Given the description of an element on the screen output the (x, y) to click on. 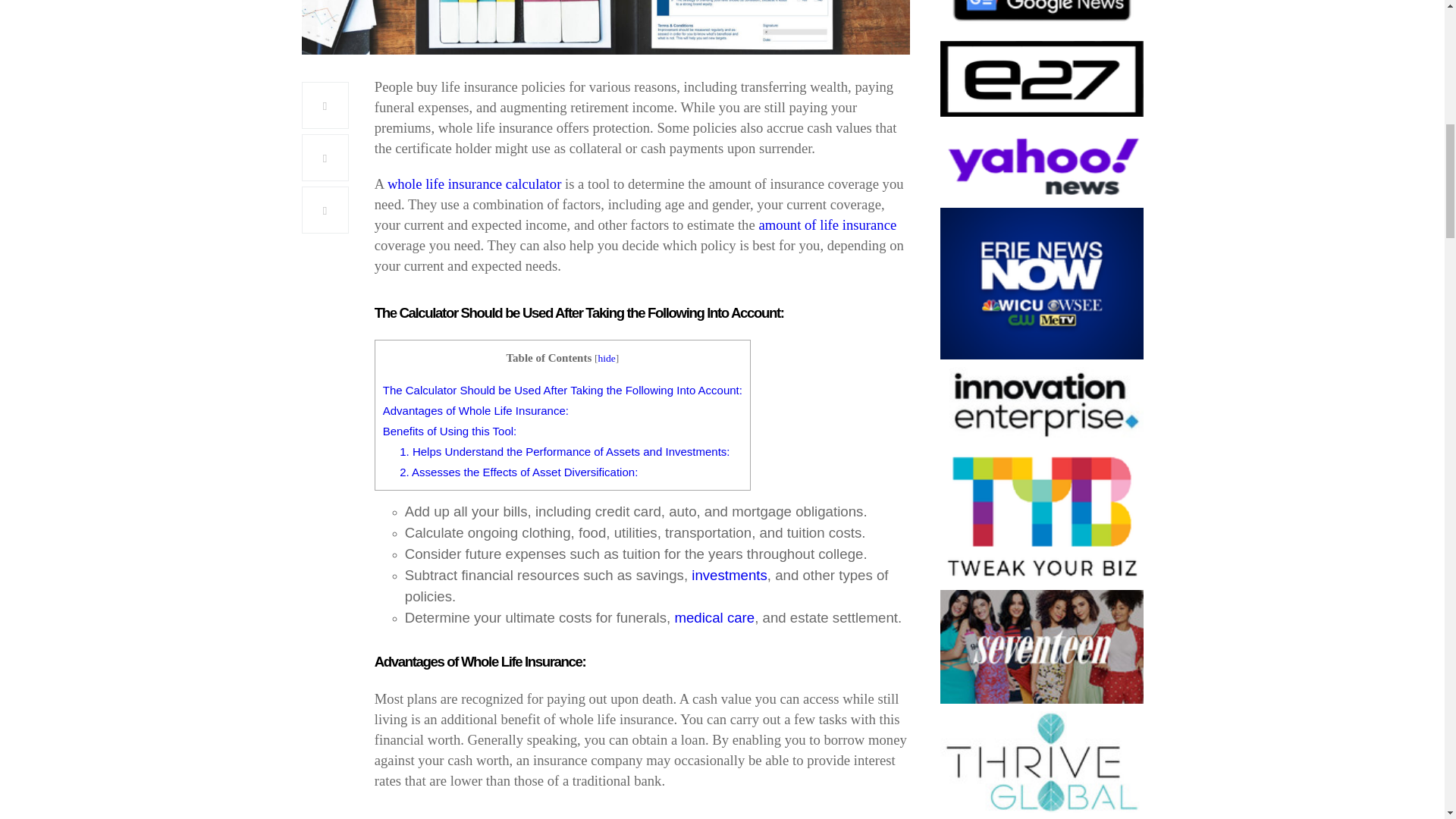
YouTube video player (639, 812)
Share on Pinterest (325, 209)
Share on Facebook (325, 104)
Share on Twitter (325, 157)
